Given the description of an element on the screen output the (x, y) to click on. 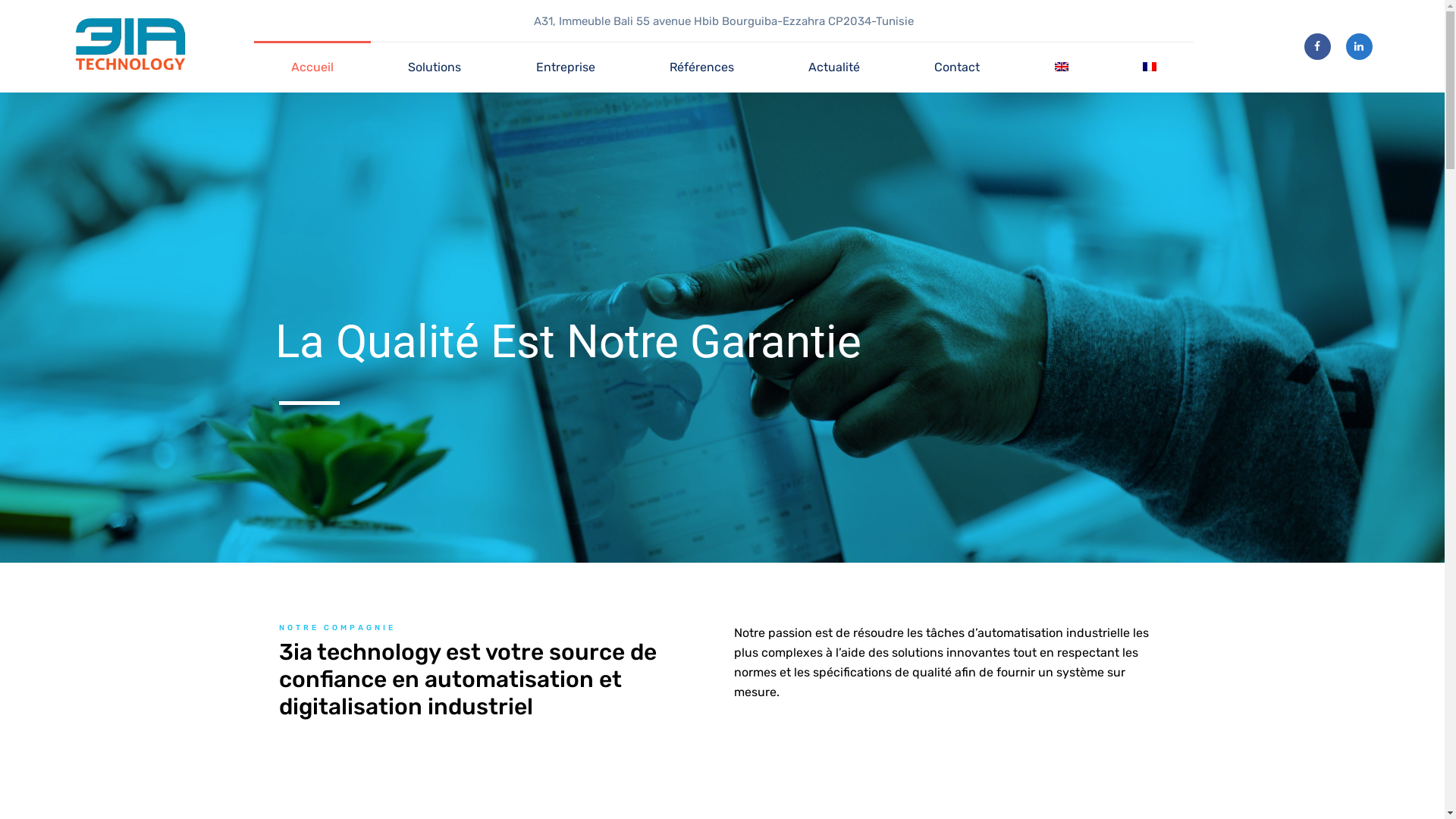
Solutions Element type: text (434, 67)
Accueil Element type: text (312, 67)
English Element type: hover (1061, 66)
Entreprise Element type: text (565, 67)
Contact Element type: text (956, 67)
